Given the description of an element on the screen output the (x, y) to click on. 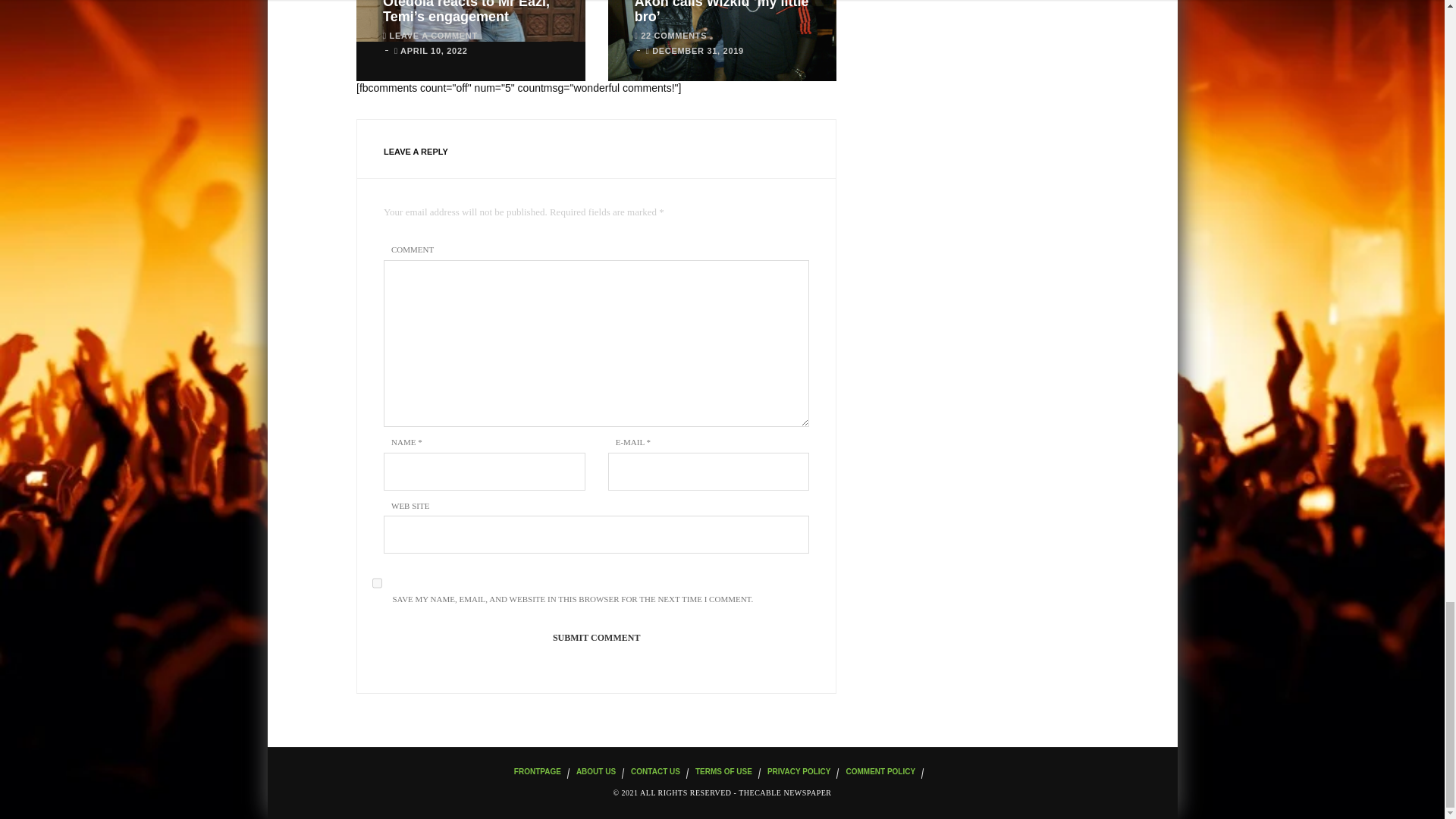
yes (376, 582)
Submit Comment (596, 638)
